Given the description of an element on the screen output the (x, y) to click on. 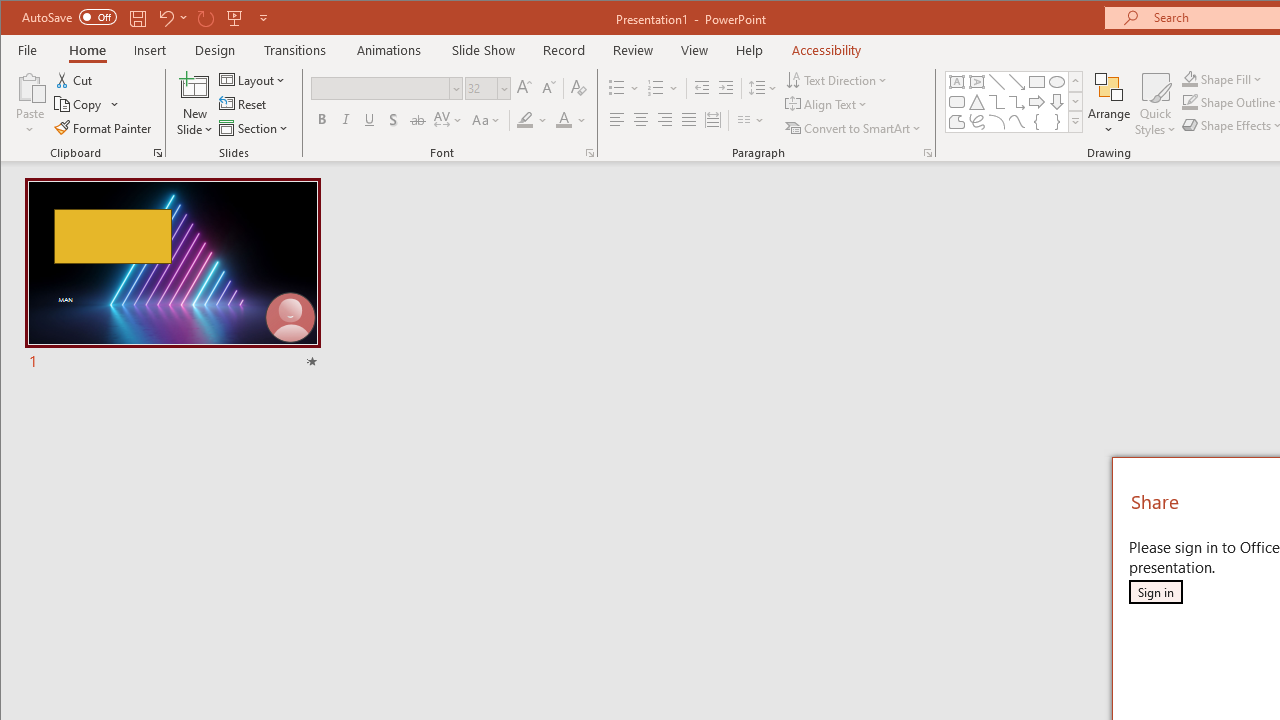
Layout (253, 80)
Text Highlight Color Yellow (525, 119)
Left Brace (1036, 121)
Right Brace (1057, 121)
Freeform: Scribble (976, 121)
Font Color Red (563, 119)
Strikethrough (417, 119)
